Given the description of an element on the screen output the (x, y) to click on. 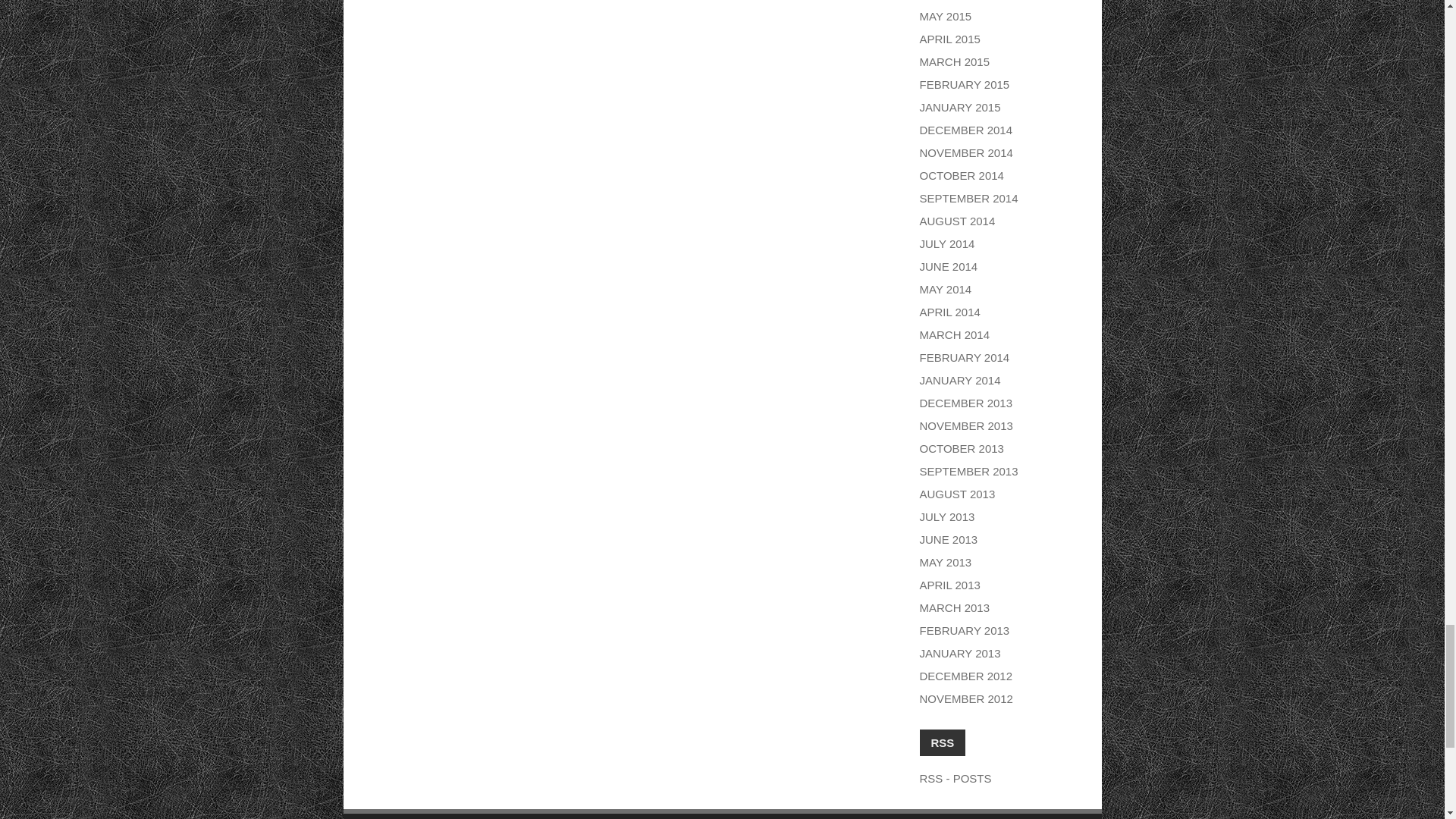
Subscribe to posts (954, 778)
